Given the description of an element on the screen output the (x, y) to click on. 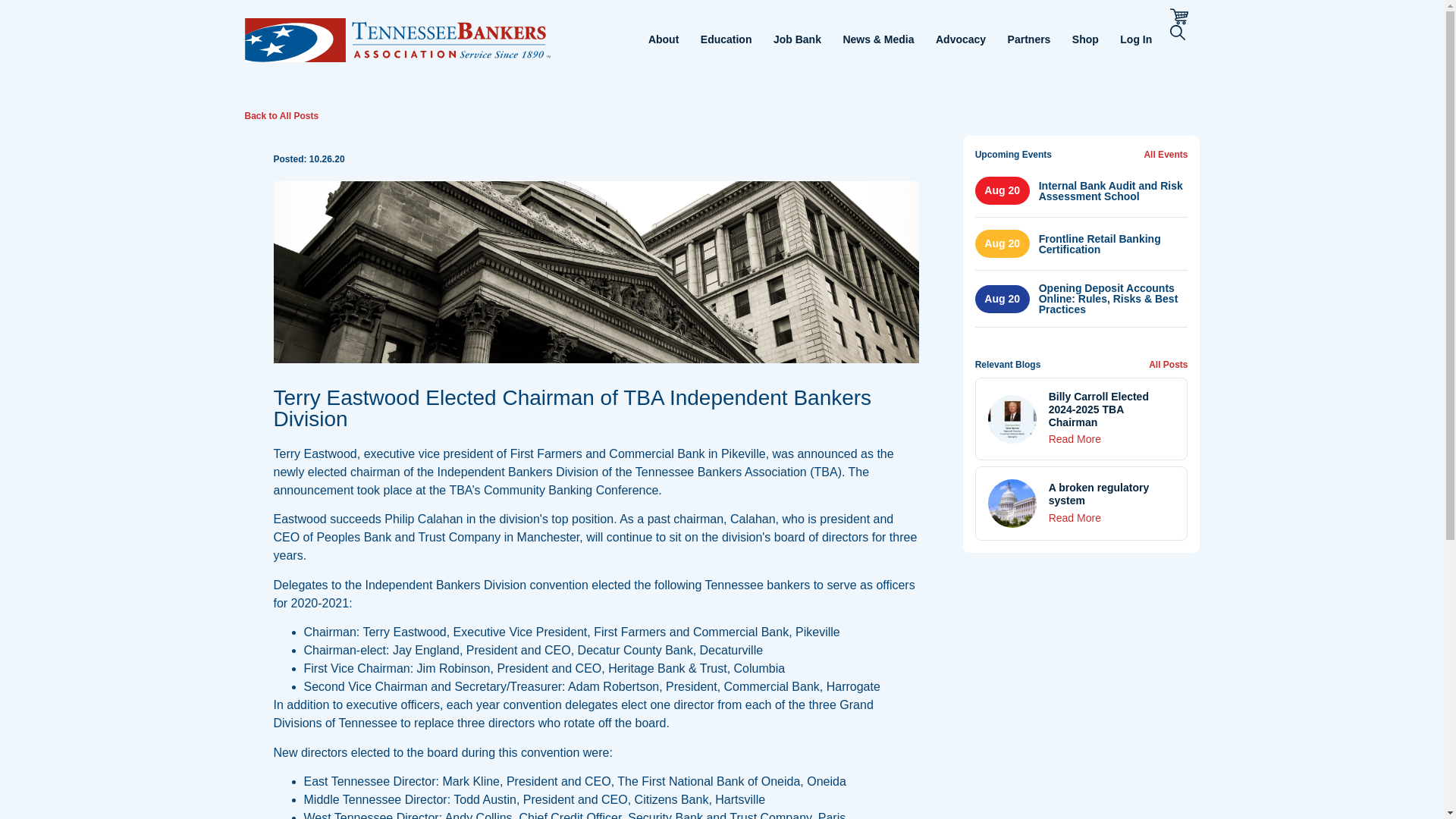
Education (726, 39)
Job Bank (797, 39)
Advocacy (960, 39)
